Given the description of an element on the screen output the (x, y) to click on. 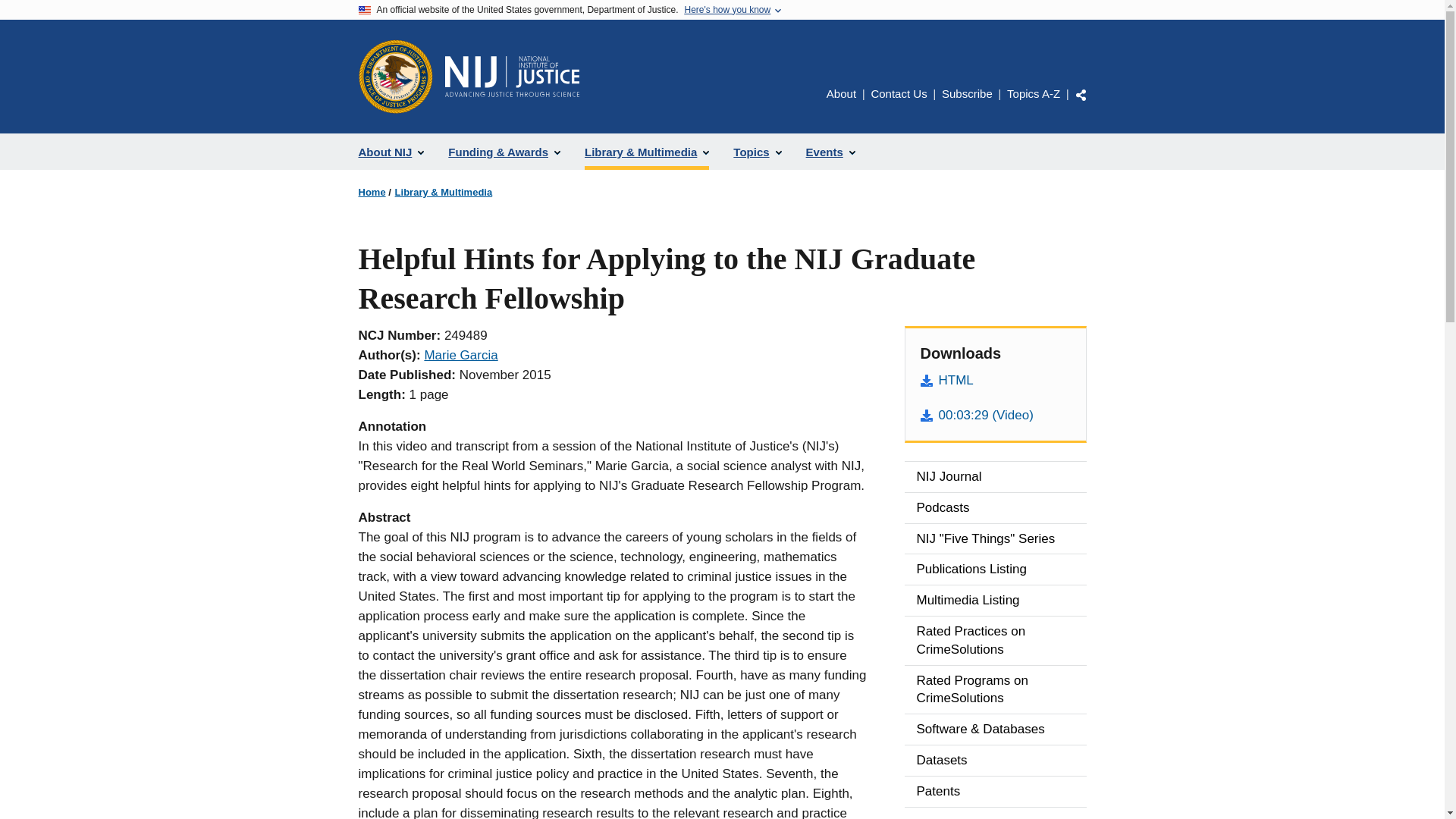
Home (511, 76)
Topics (756, 151)
NIJ "Five Things" Series (995, 539)
About (841, 93)
Subscribe (967, 93)
Rated Practices on CrimeSolutions (995, 640)
Datasets (995, 760)
Choose a social sharing platform (1080, 94)
Home (371, 192)
Here's how you know (727, 9)
